Given the description of an element on the screen output the (x, y) to click on. 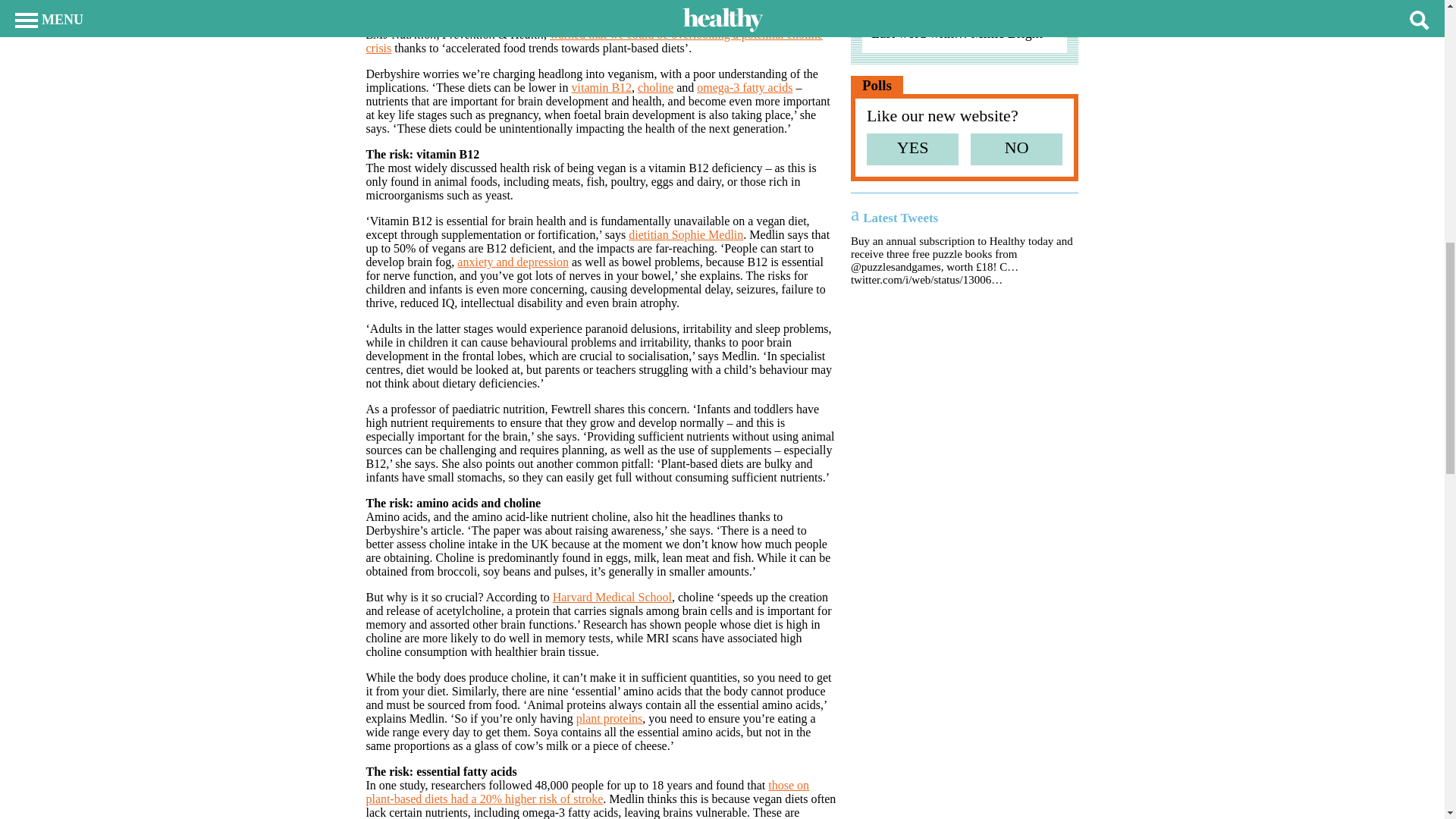
those on plant-based diets had a 20 (587, 791)
dietitian Sophie Medlin (685, 234)
Harvard Medical School (612, 596)
anxiety and depression (513, 261)
vitamin B12 (601, 87)
omega-3 fatty acids (744, 87)
higher risk of stroke (552, 798)
choline (654, 87)
